Given the description of an element on the screen output the (x, y) to click on. 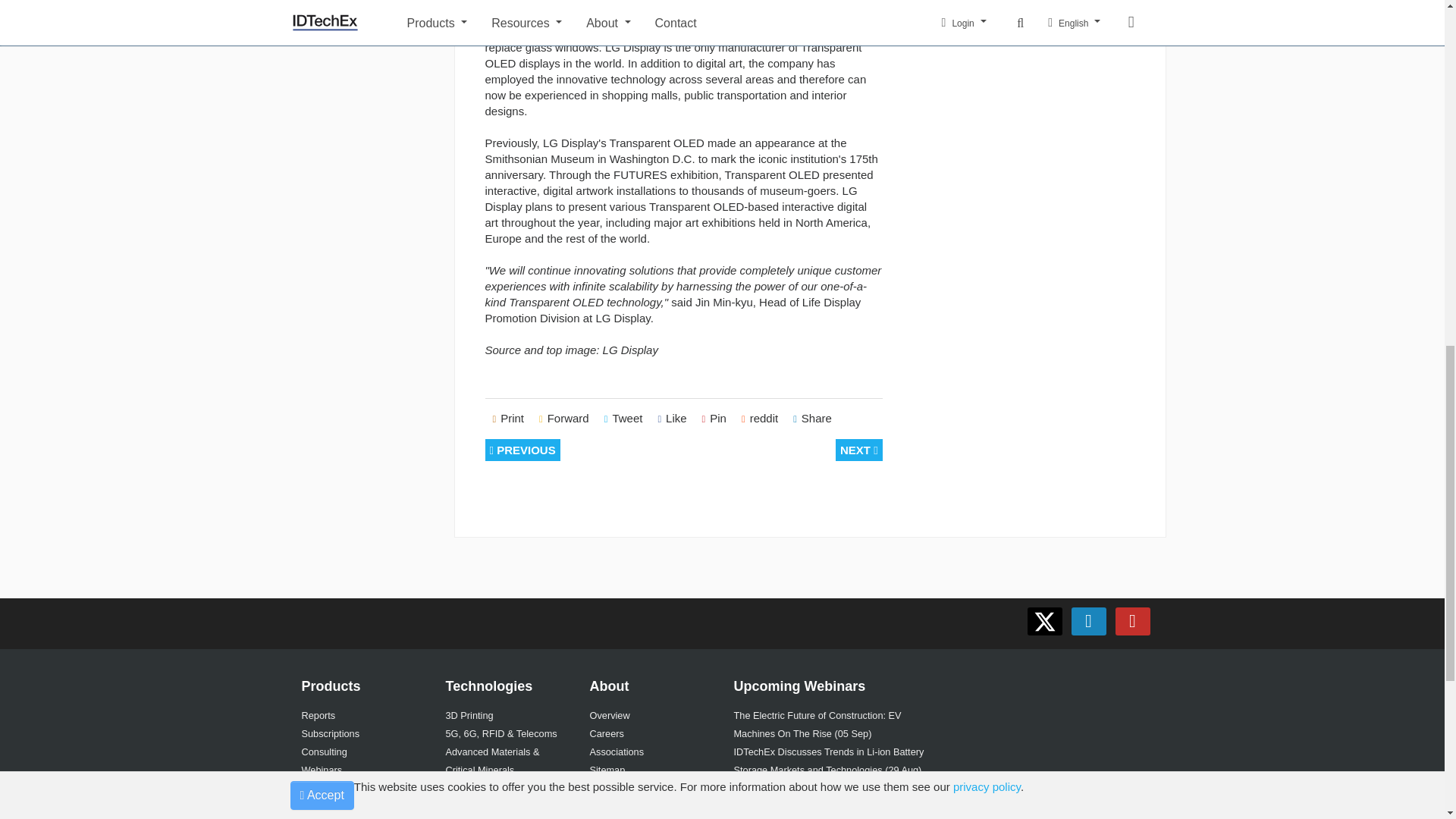
Share on Twitter (623, 418)
Share on Reddit (759, 418)
Share on Pinterest (713, 418)
3D Printing (469, 715)
Emerging Technologies (351, 787)
Consulting (324, 751)
Subscriptions (330, 733)
Print Article (508, 418)
Share on Facebook (671, 418)
Research Articles (339, 806)
Reports (318, 715)
Webinars (321, 769)
Share on LinkedIn (813, 418)
Forward to a Friend (563, 418)
